Given the description of an element on the screen output the (x, y) to click on. 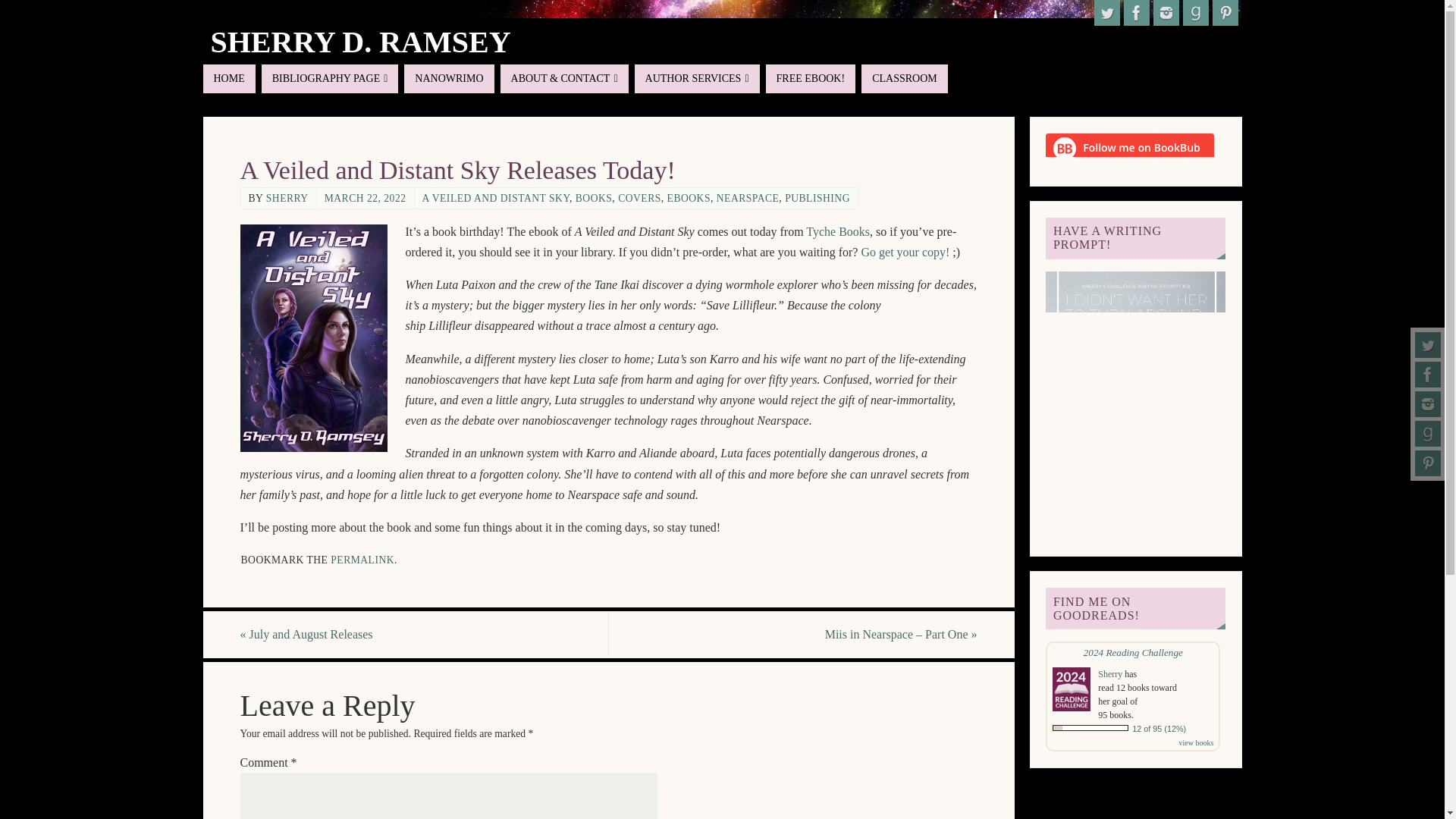
Facebook (1428, 374)
NANOWRIMO (448, 78)
Pinterest (1224, 12)
CLASSROOM (904, 78)
Pinterest (1428, 462)
GoodReads (1195, 12)
AUTHOR SERVICES (697, 78)
Facebook (1137, 12)
Twitter (1106, 12)
SHERRY D. RAMSEY (361, 42)
